Given the description of an element on the screen output the (x, y) to click on. 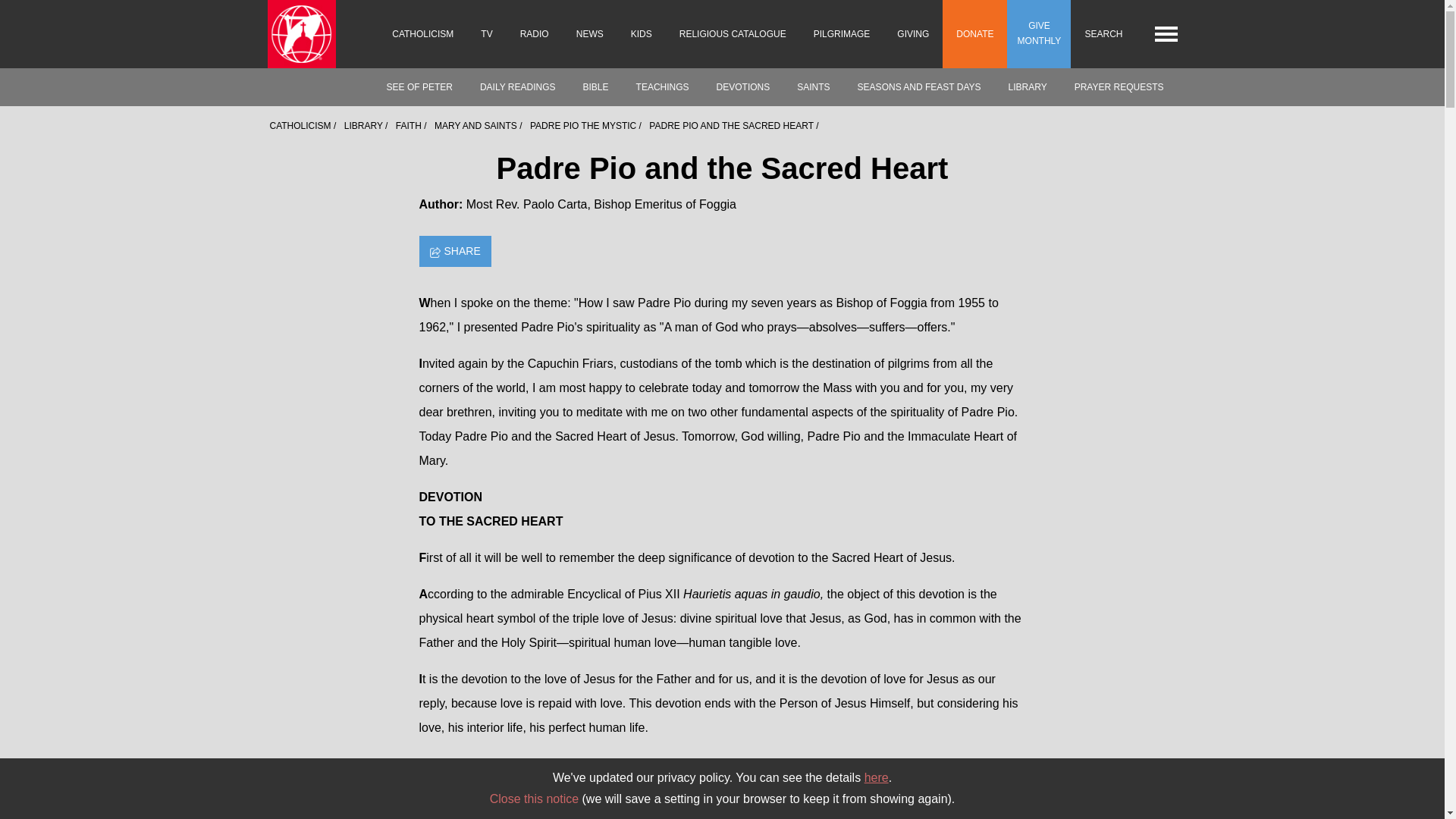
TV (486, 33)
RELIGIOUS CATALOGUE (732, 33)
GIVE MONTHLY (1038, 33)
NEWS (589, 33)
CATHOLICISM (422, 33)
KIDS (641, 33)
DONATE (974, 33)
SEARCH (1102, 33)
PILGRIMAGE (841, 33)
GIVING (912, 33)
RADIO (534, 33)
